Given the description of an element on the screen output the (x, y) to click on. 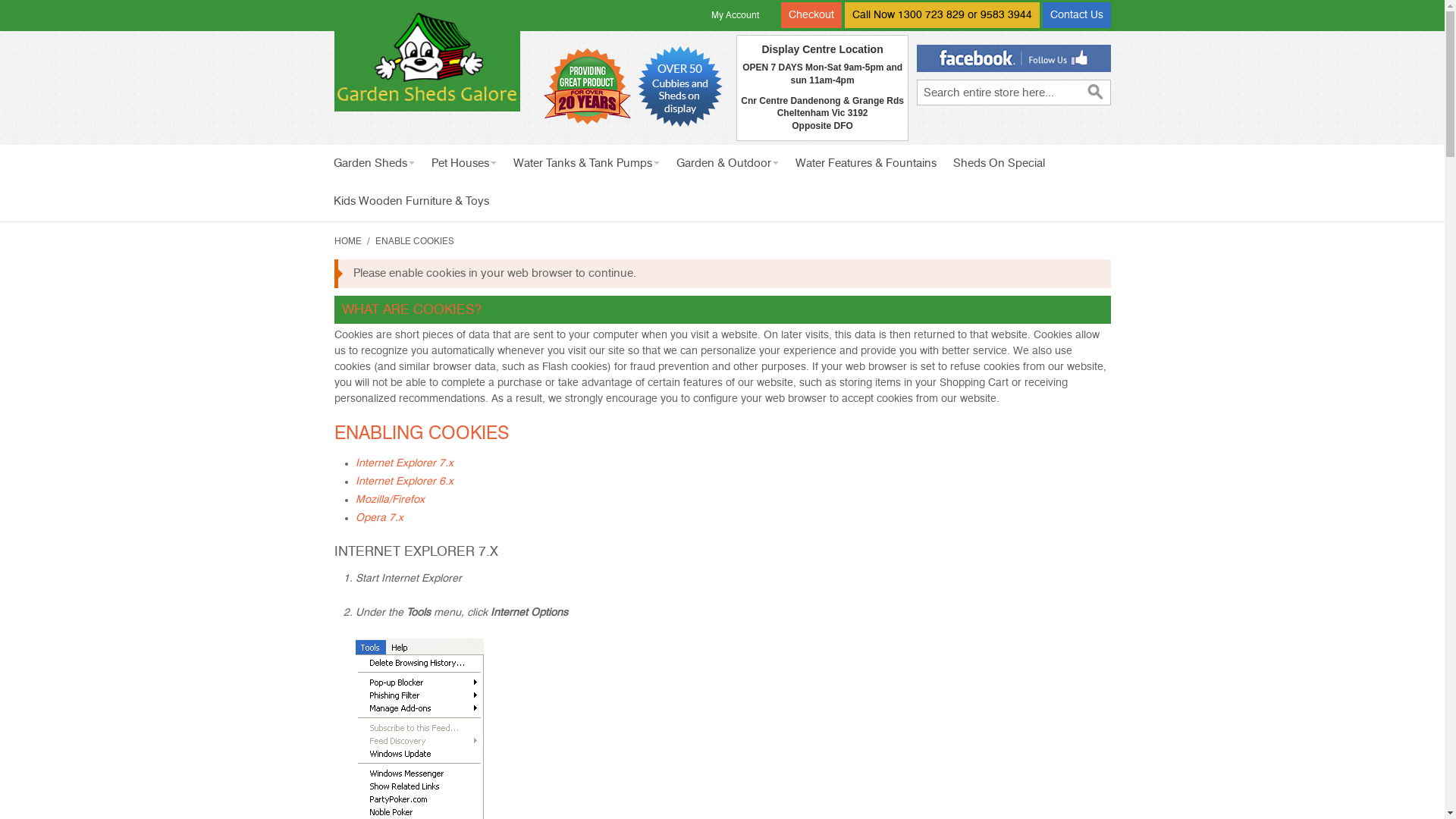
Garden & Outdoor  Element type: text (726, 163)
My Account Element type: text (735, 14)
Garden Sheds  Element type: text (373, 163)
Sheds On Special Element type: text (998, 163)
Mozilla/Firefox Element type: text (388, 499)
Internet Explorer 7.x Element type: text (403, 463)
like us on our facebook page Element type: hover (1013, 58)
Checkout Element type: text (811, 15)
Opera 7.x Element type: text (378, 517)
Contact Us Element type: text (1075, 15)
Kids Wooden Furniture & Toys Element type: text (410, 201)
Internet Explorer 6.x Element type: text (403, 481)
Search Element type: hover (1094, 91)
Water Features & Fountains Element type: text (865, 163)
Water Tanks & Tank Pumps  Element type: text (586, 163)
Call Now 1300 723 829 or 9583 3944 Element type: text (941, 15)
Pet Houses  Element type: text (464, 163)
HOME Element type: text (346, 240)
